Given the description of an element on the screen output the (x, y) to click on. 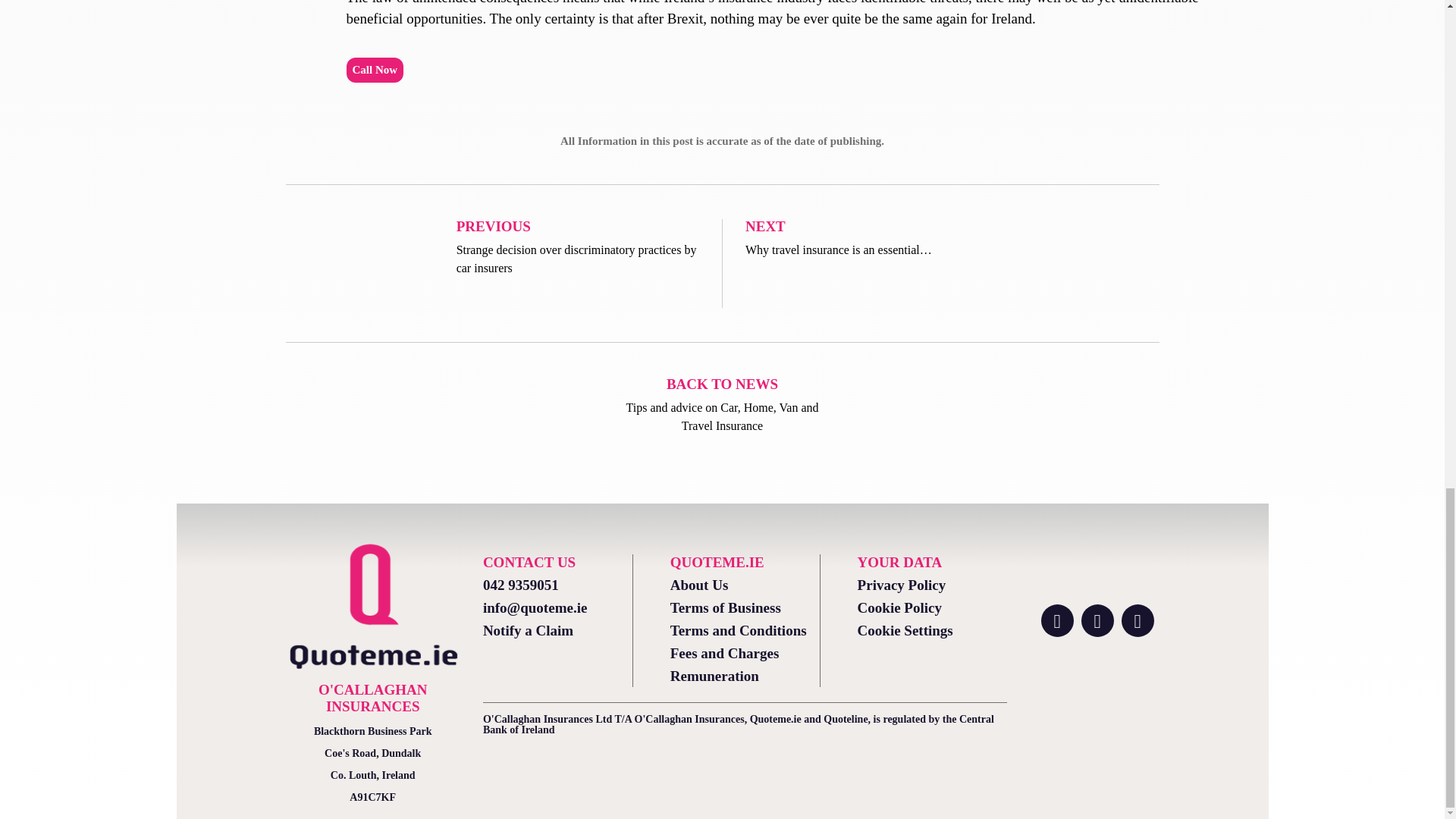
About Us (744, 585)
O'CALLAGHAN INSURANCES (372, 697)
042 9359051 (557, 585)
Call Now (374, 69)
Terms of Business (744, 607)
Terms and Conditions (744, 630)
Notify a Claim (557, 630)
